Given the description of an element on the screen output the (x, y) to click on. 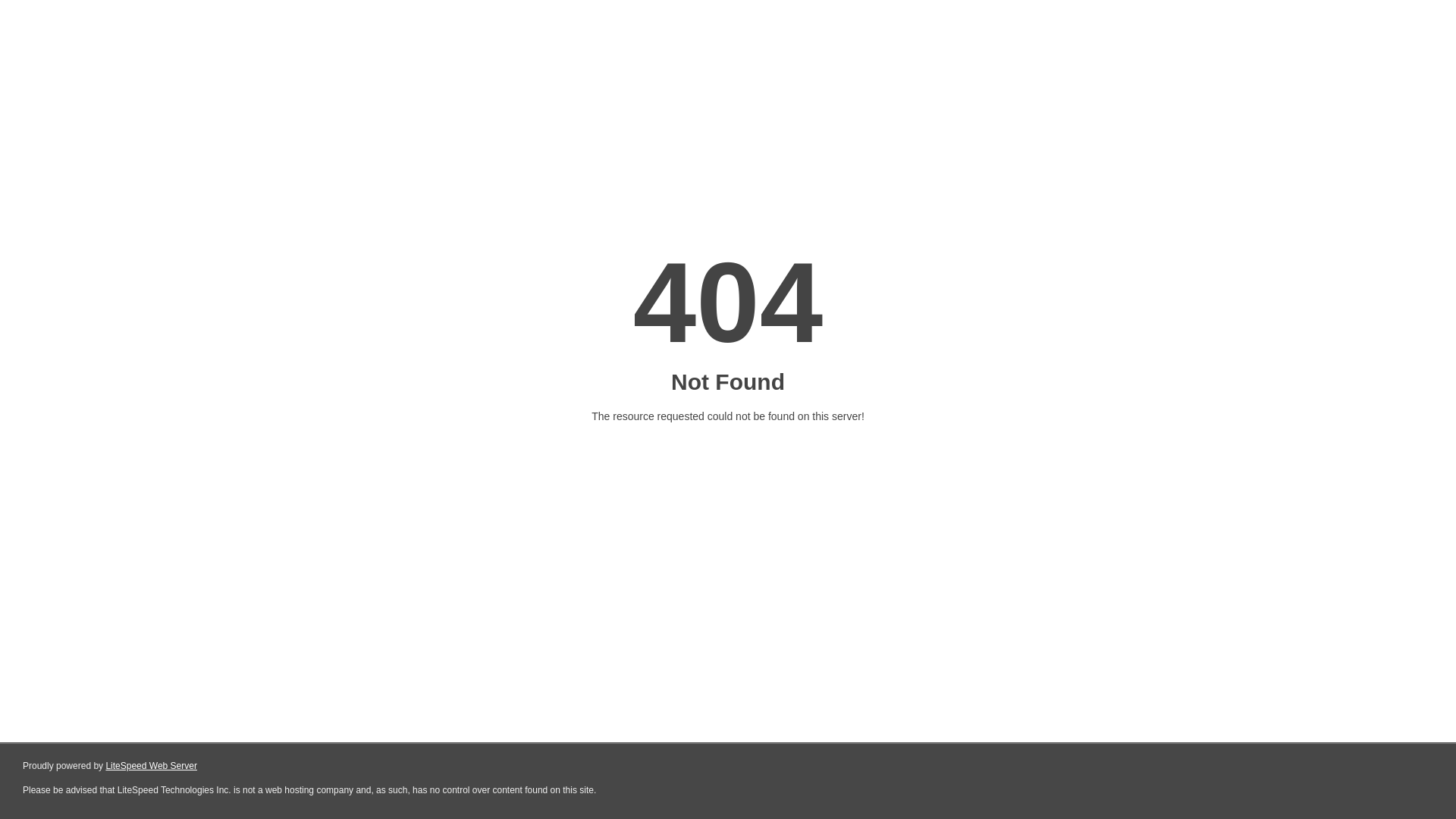
LiteSpeed Web Server Element type: text (151, 765)
